Given the description of an element on the screen output the (x, y) to click on. 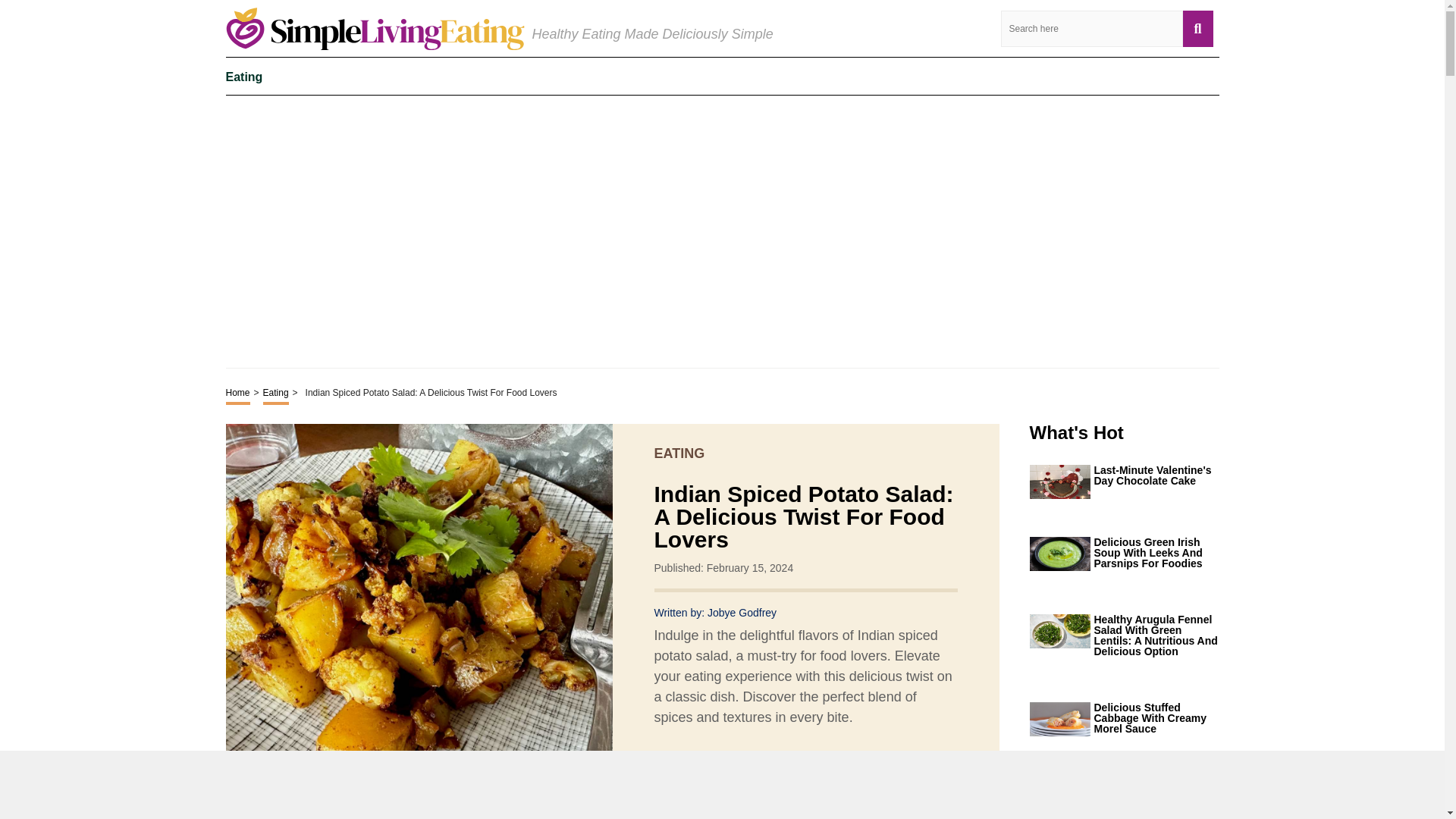
Delicious Stuffed Cabbage With Creamy Morel Sauce (1155, 717)
Delicious Herb Butter Pork Chops: A Tasty Twist On A Classic (1155, 795)
Share on Facebook (705, 772)
Share on Pinterest (759, 772)
Share on Twitter (732, 772)
Eating (275, 394)
Advertisement (721, 230)
Share on WhatsApp (786, 772)
Home (237, 394)
Last-Minute Valentine's Day Chocolate Cake (1155, 475)
Eating (244, 75)
